Given the description of an element on the screen output the (x, y) to click on. 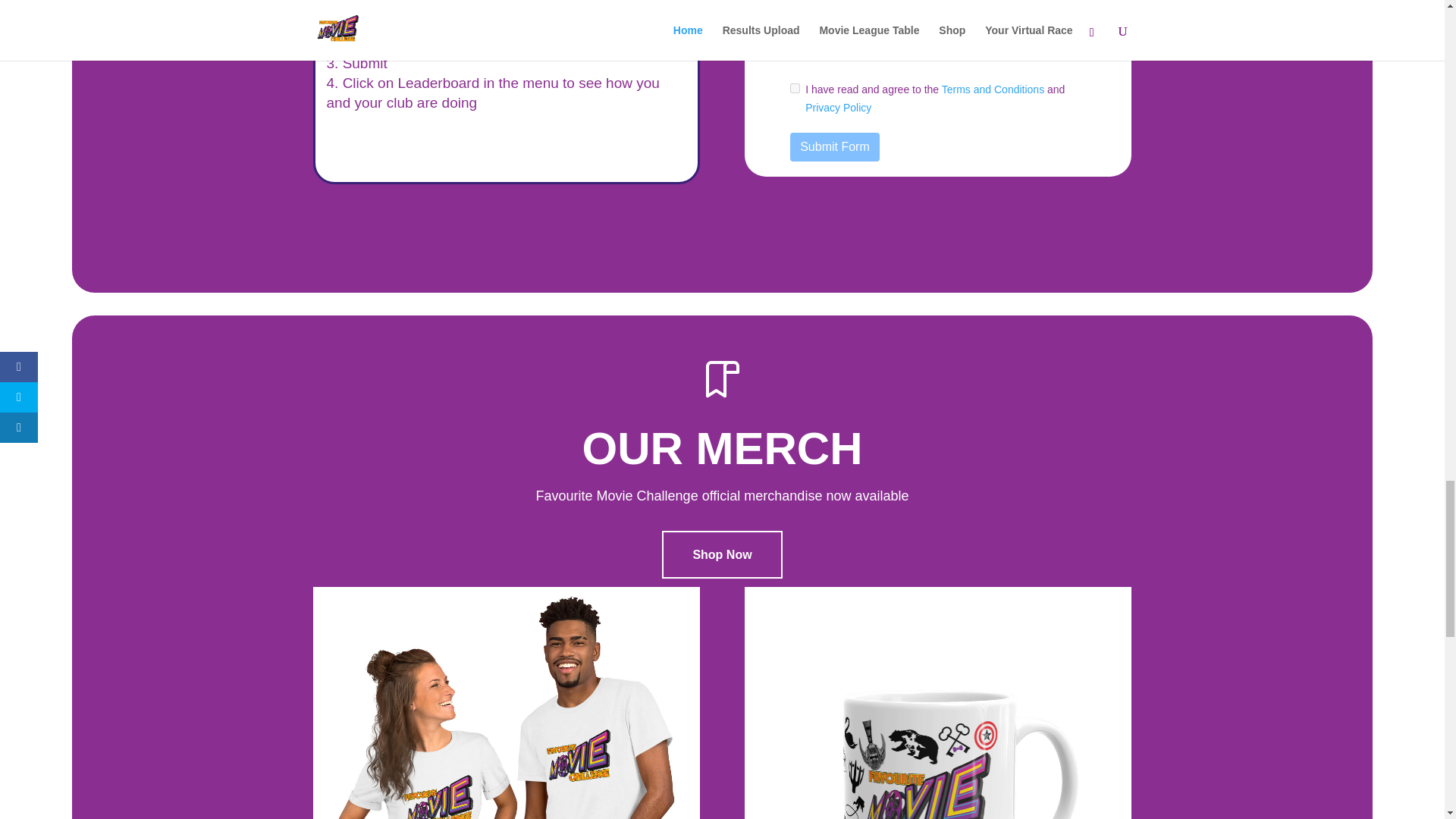
Shop Now (721, 554)
Submit Form (834, 146)
Terms and Conditions (992, 89)
on (794, 88)
white-glossy-mug-11oz-handle-on-right-60e2dc2b2c716.jpg (937, 703)
unisex-premium-t-shirt-white-front-60e2df926a43e.jpg (505, 703)
Privacy Policy (837, 107)
